Given the description of an element on the screen output the (x, y) to click on. 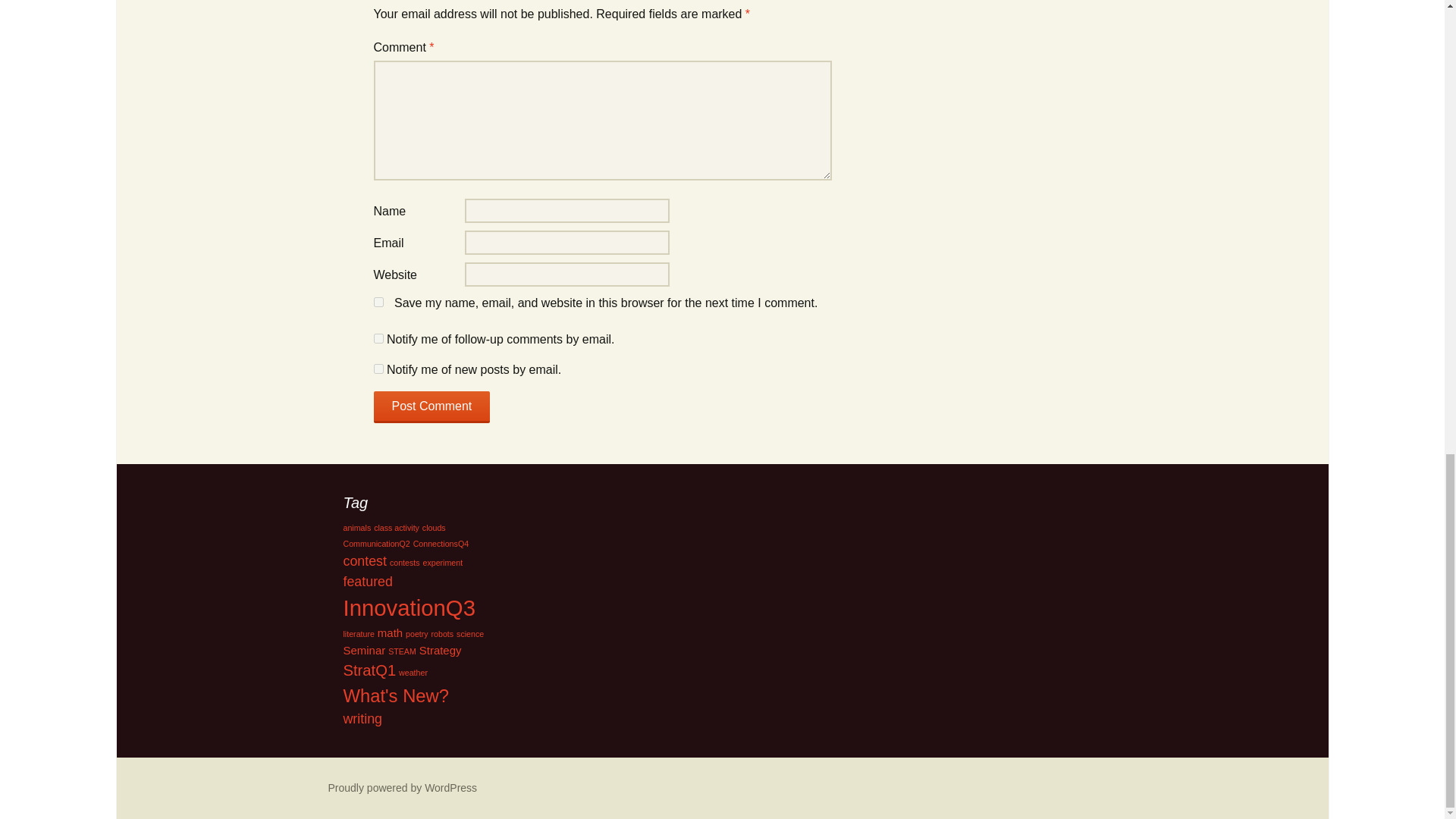
Post Comment (430, 407)
yes (377, 302)
subscribe (377, 368)
subscribe (377, 338)
